Given the description of an element on the screen output the (x, y) to click on. 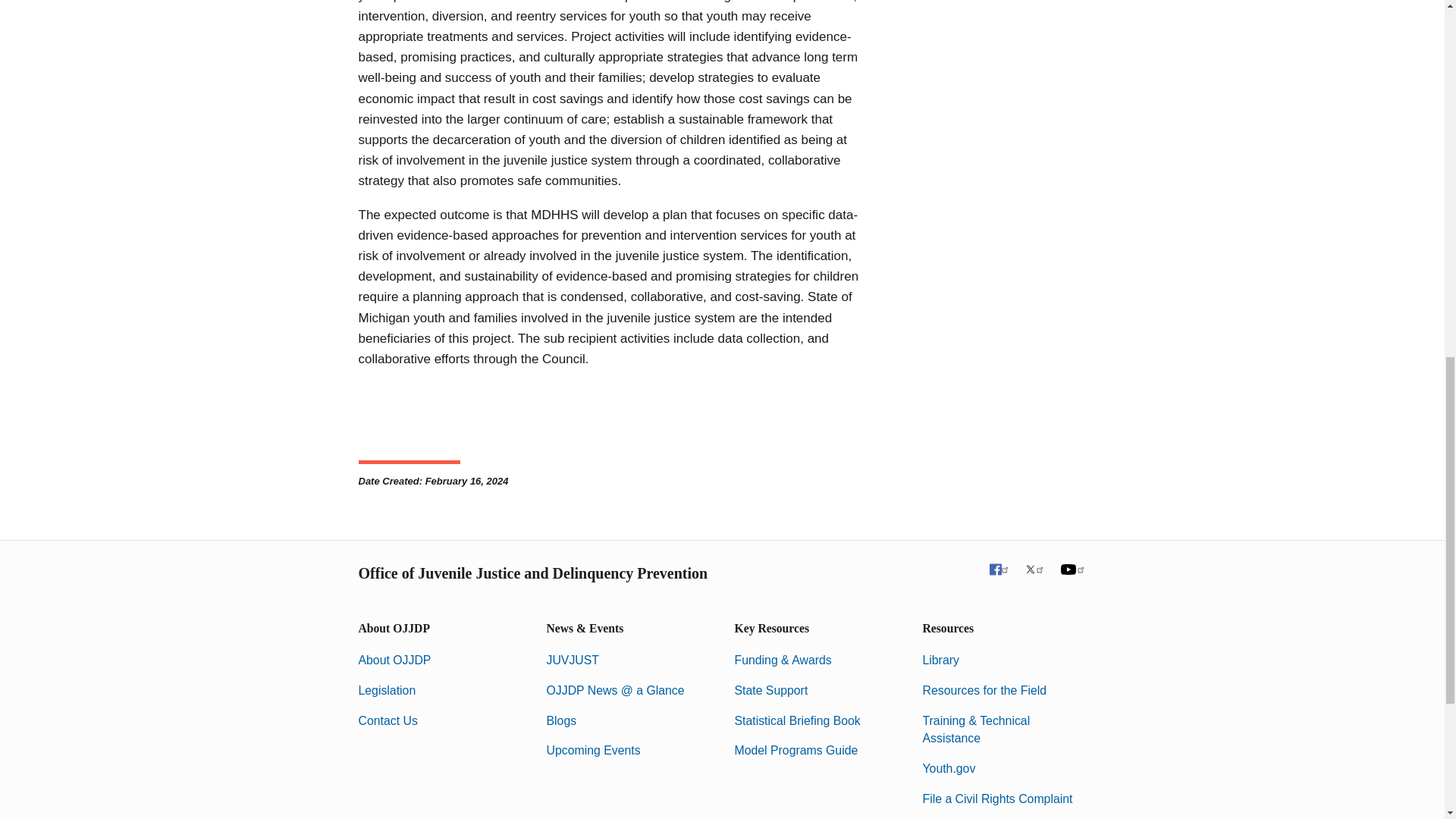
Contact Us (387, 720)
About OJJDP (394, 659)
Legislation (386, 689)
